Given the description of an element on the screen output the (x, y) to click on. 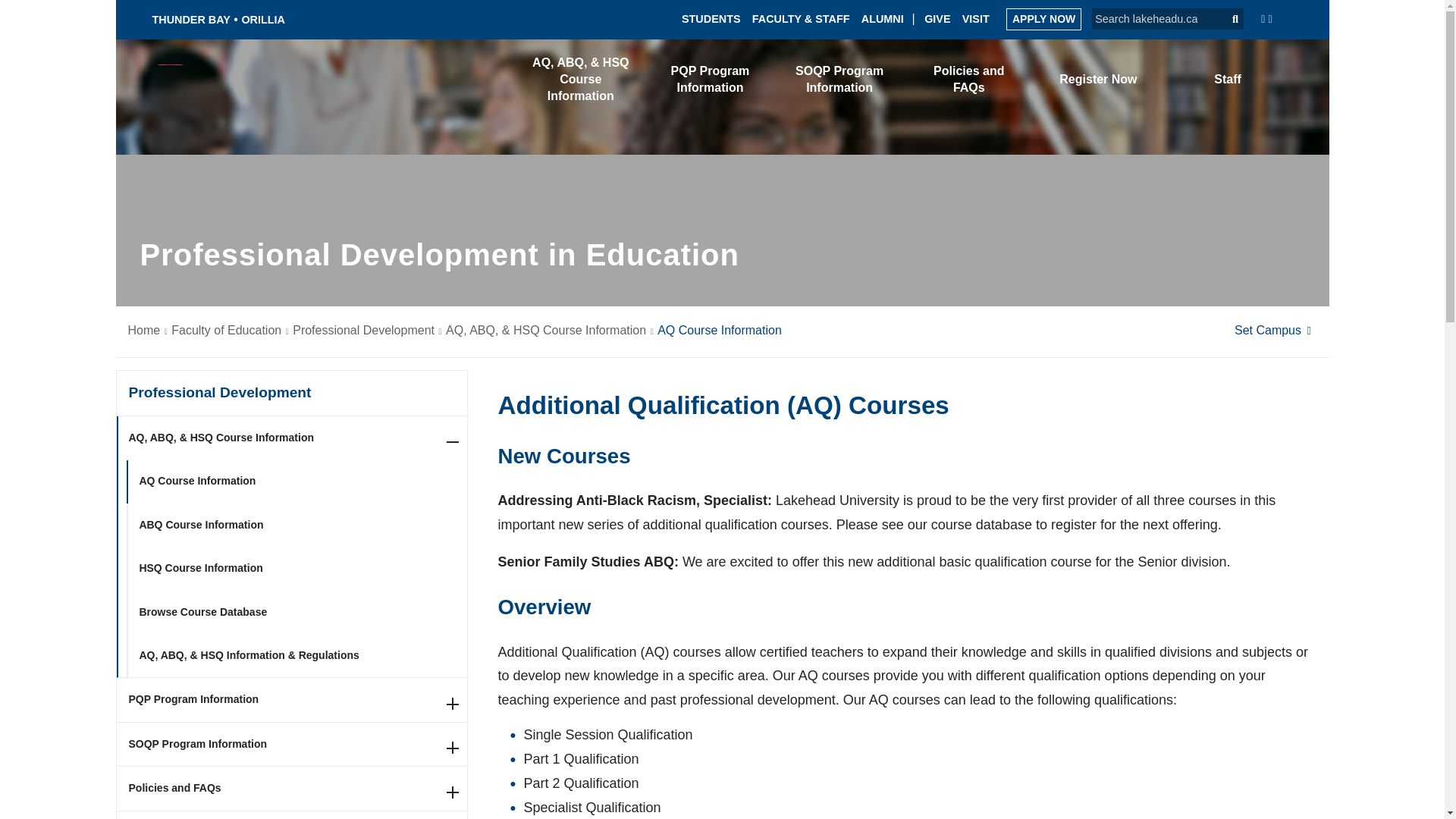
Log in to mySuccess (1042, 82)
THUNDER BAY (190, 19)
MYSUCCESS (1042, 82)
SOQP Program Information (839, 79)
Return to the Lakehead University home page (309, 81)
Log in to myCourseLink (1140, 80)
Policies and FAQs (969, 79)
VISIT (976, 18)
ORILLIA (263, 19)
STUDENTS (711, 18)
